Given the description of an element on the screen output the (x, y) to click on. 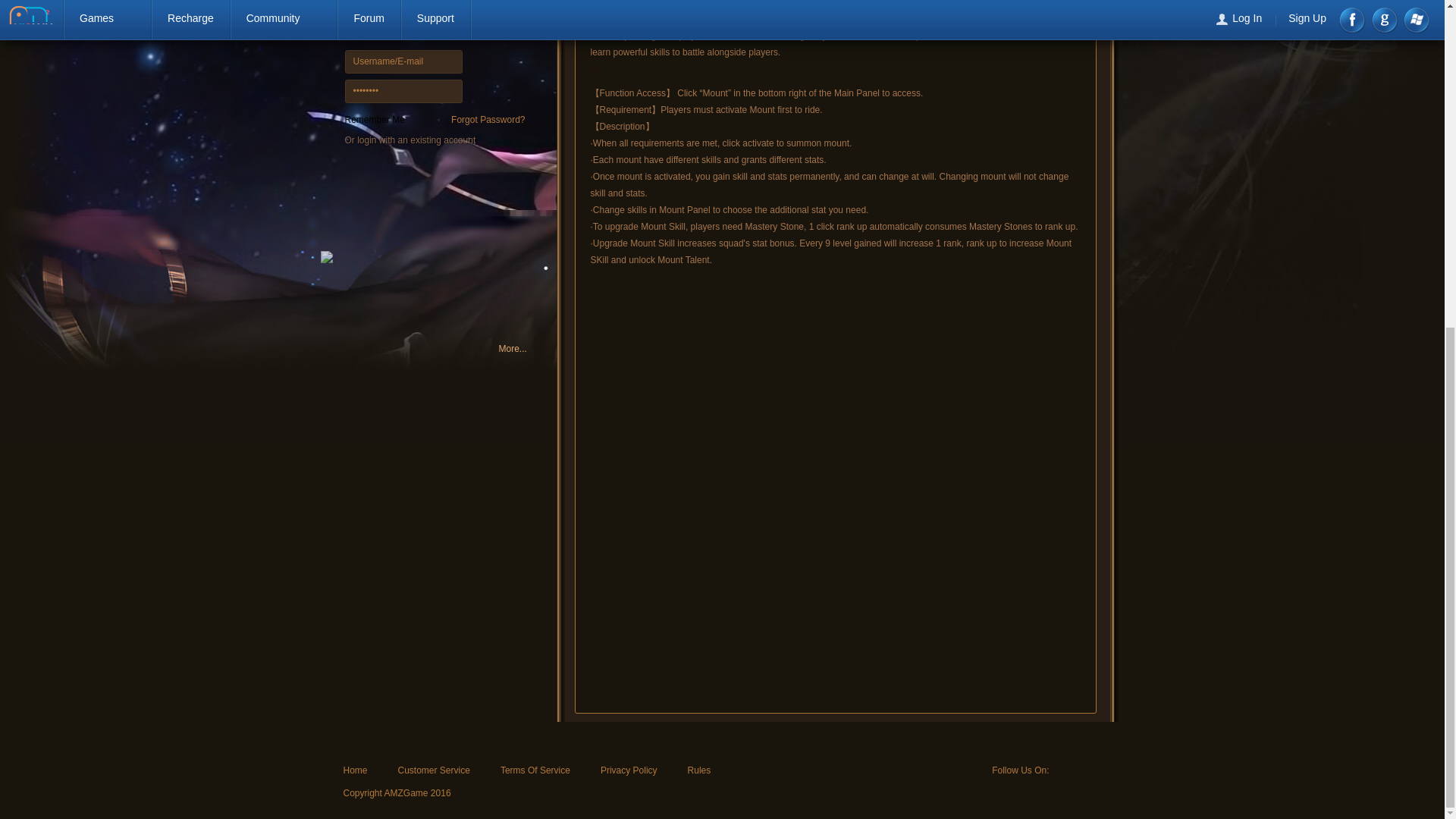
Facebook (1065, 770)
Sign Up (384, 197)
Password (402, 91)
Log In (494, 75)
Recharge (484, 197)
Twitter (1089, 770)
